Given the description of an element on the screen output the (x, y) to click on. 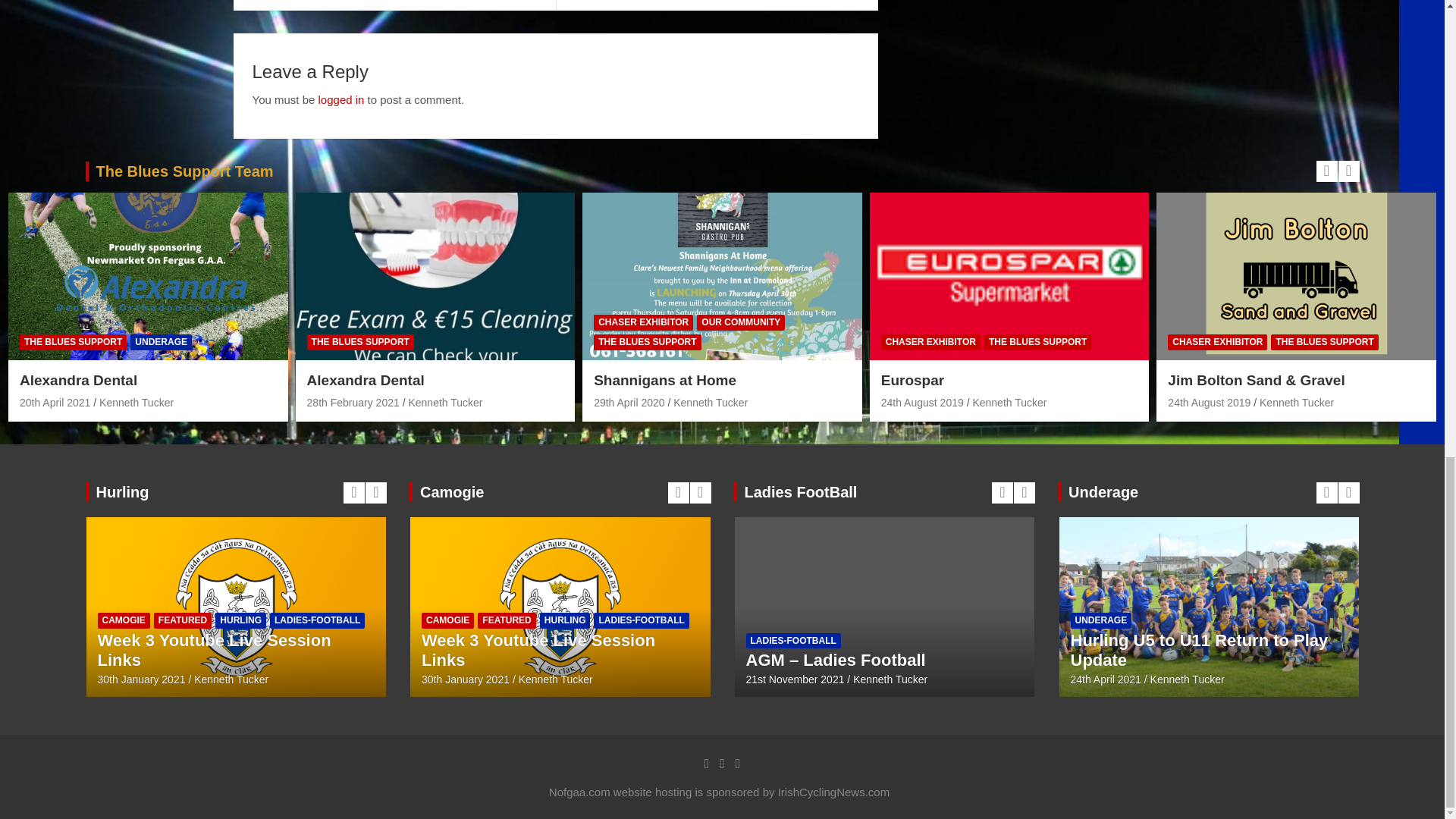
Shannigans at Home (628, 402)
Eurospar (921, 402)
Alexandra Dental (352, 402)
logged in (341, 99)
Intermediates Hoping To Bounce Back (394, 5)
Alexandra Dental (55, 402)
